Given the description of an element on the screen output the (x, y) to click on. 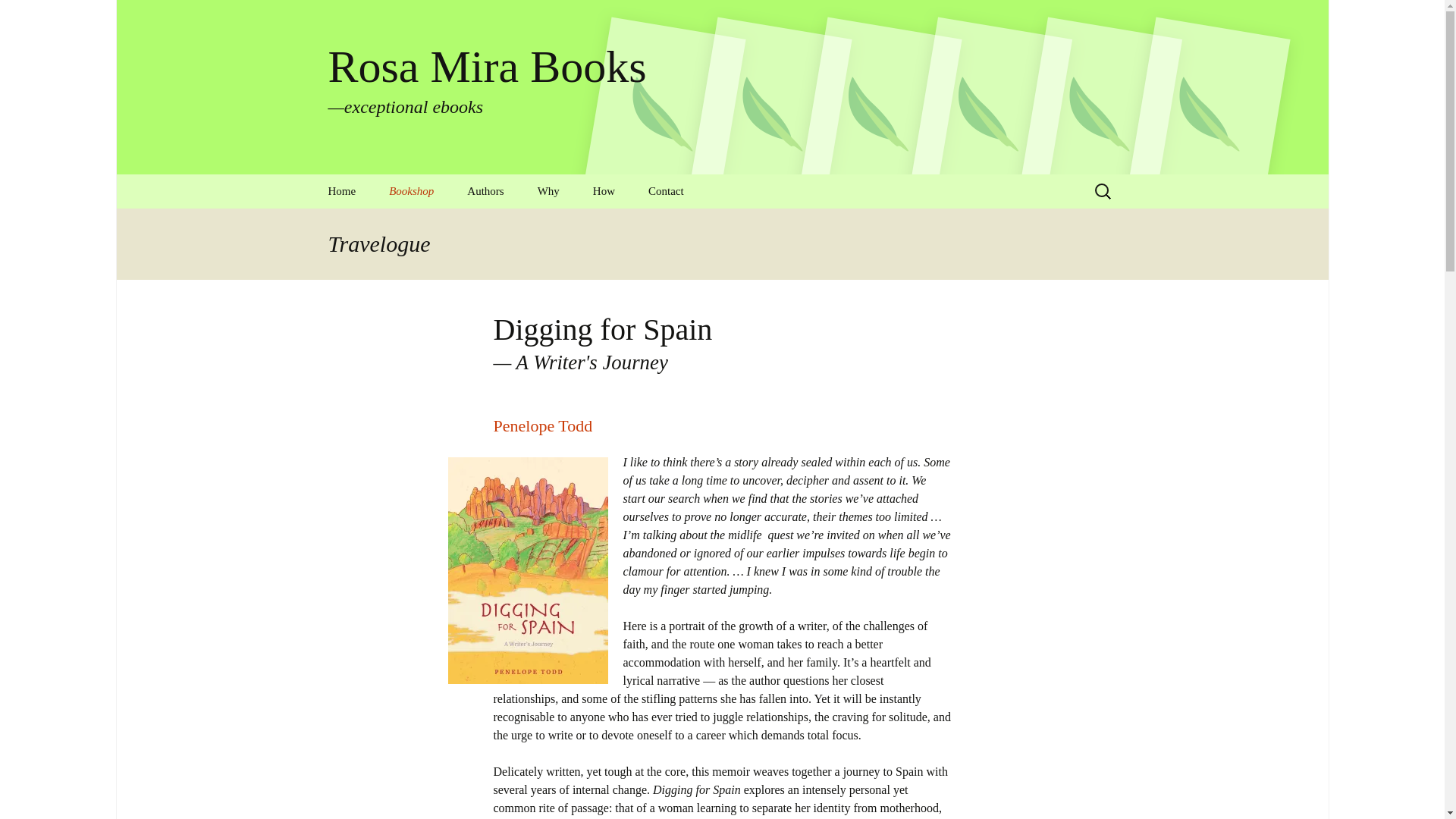
Contact (721, 343)
How (665, 191)
Authors (604, 191)
Home (484, 191)
Aaron Blaker (342, 191)
Skip to content (527, 225)
